Given the description of an element on the screen output the (x, y) to click on. 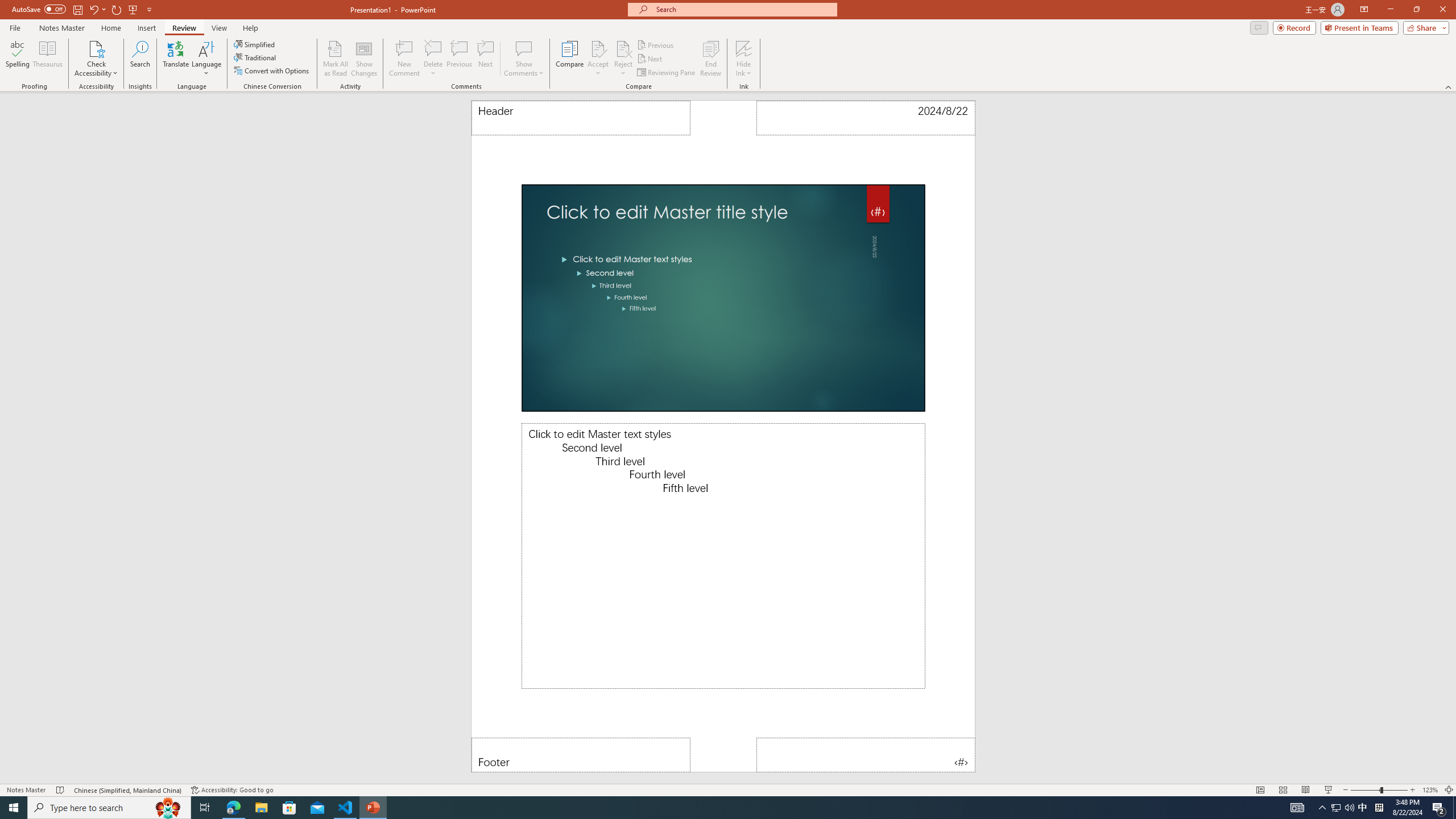
Reviewing Pane (666, 72)
Previous (655, 44)
Next (649, 58)
Notes Master (61, 28)
Zoom 123% (1430, 790)
Simplified (254, 44)
Mark All as Read (335, 58)
